Given the description of an element on the screen output the (x, y) to click on. 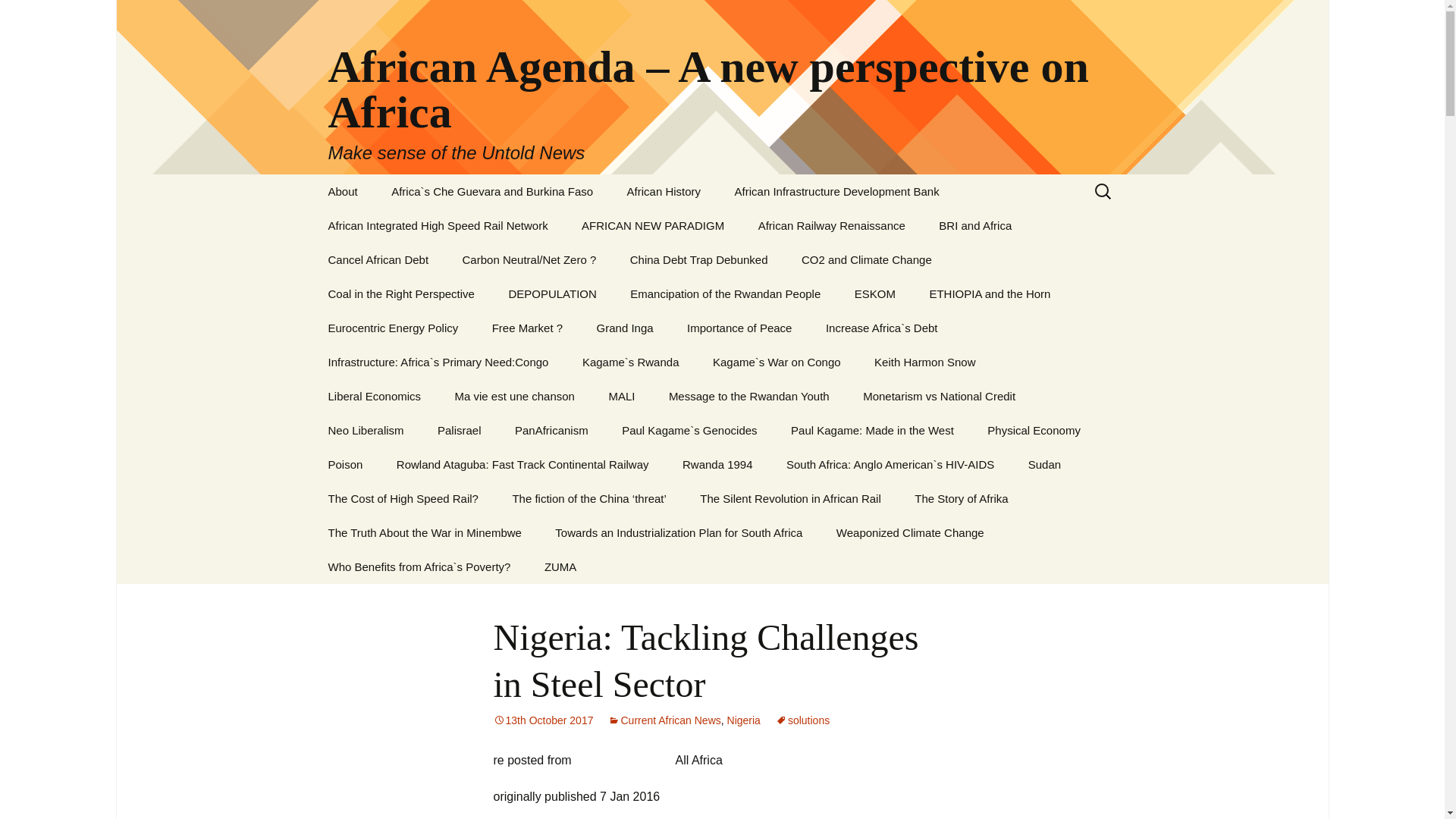
China Debt Trap Debunked (698, 259)
Liberal Economics (374, 396)
Ma vie est une chanson (514, 396)
Message to the Rwandan Youth (748, 396)
Paul Kagame: Made in the West (872, 430)
AFRICAN NEW PARADIGM (652, 225)
Cancel African Debt (378, 259)
Grand Inga (624, 327)
Importance of Peace (738, 327)
DEPOPULATION (552, 293)
